Given the description of an element on the screen output the (x, y) to click on. 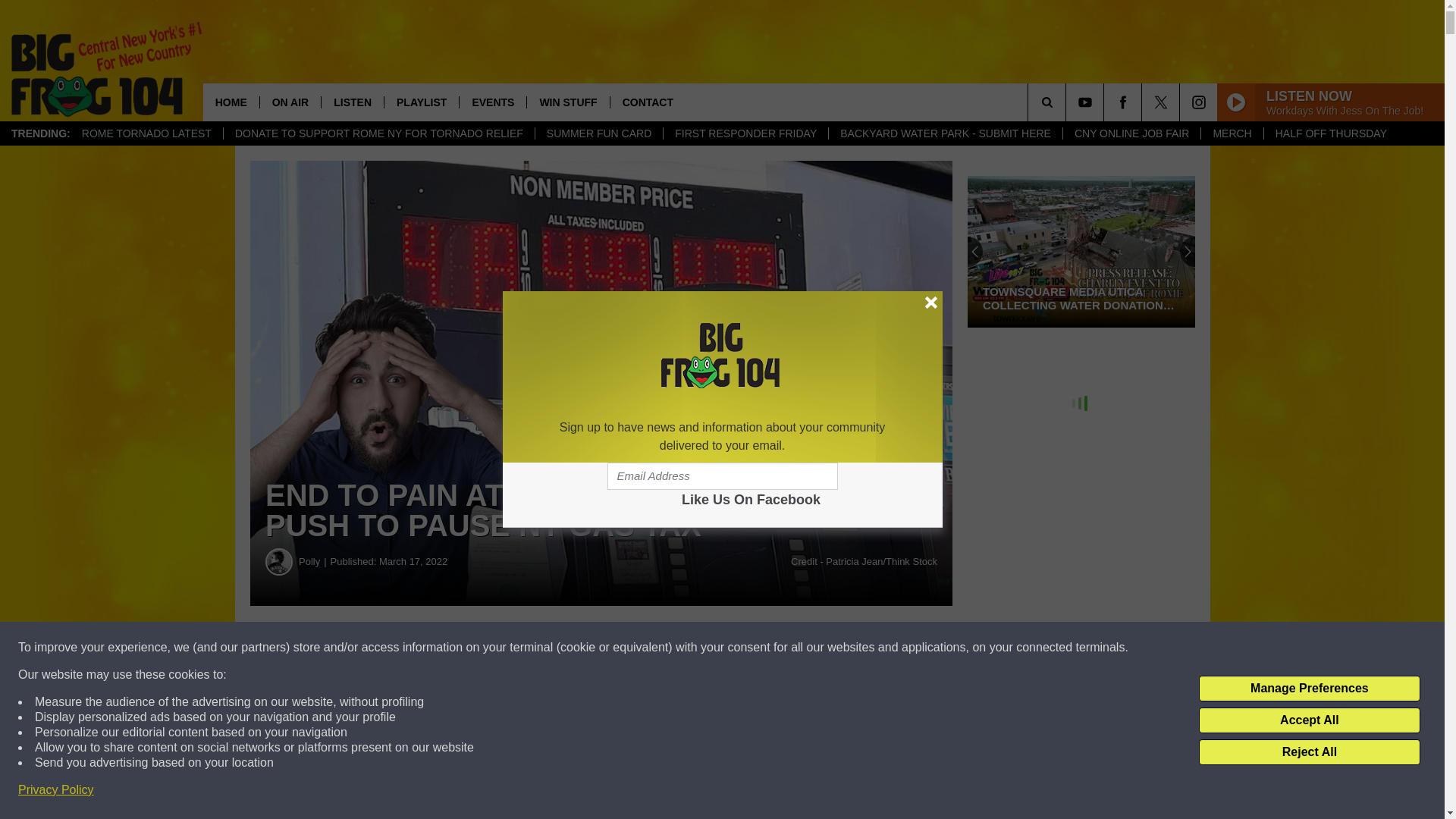
MERCH (1230, 133)
Accept All (1309, 720)
SEARCH (1068, 102)
HALF OFF THURSDAY (1330, 133)
CNY ONLINE JOB FAIR (1130, 133)
SUMMER FUN CARD (598, 133)
Manage Preferences (1309, 688)
Share on Facebook (460, 647)
SEARCH (1068, 102)
HOME (231, 102)
DONATE TO SUPPORT ROME NY FOR TORNADO RELIEF (378, 133)
Reject All (1309, 751)
Share on Twitter (741, 647)
ROME TORNADO LATEST (145, 133)
Privacy Policy (55, 789)
